Given the description of an element on the screen output the (x, y) to click on. 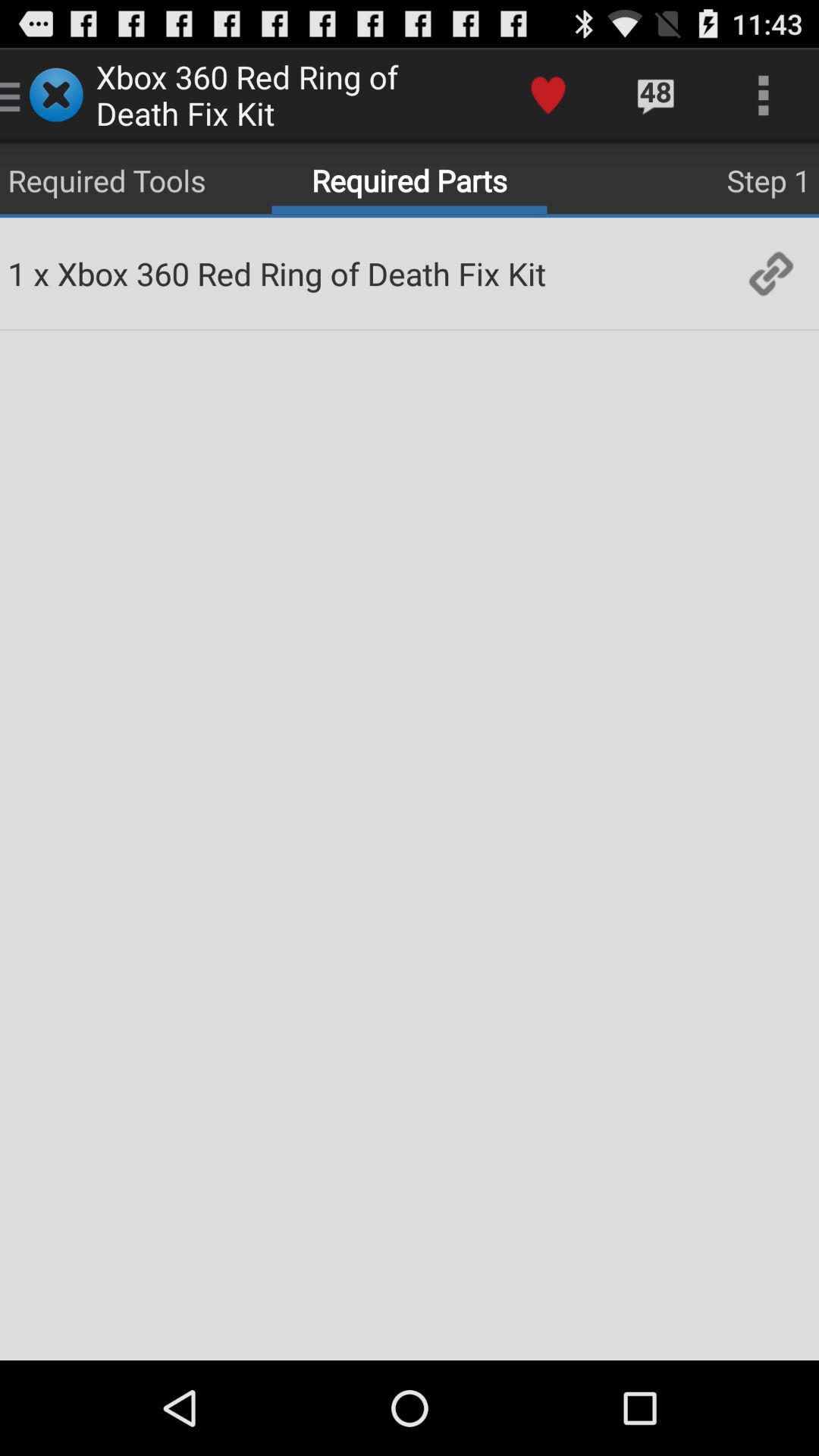
flip until x (41, 273)
